Given the description of an element on the screen output the (x, y) to click on. 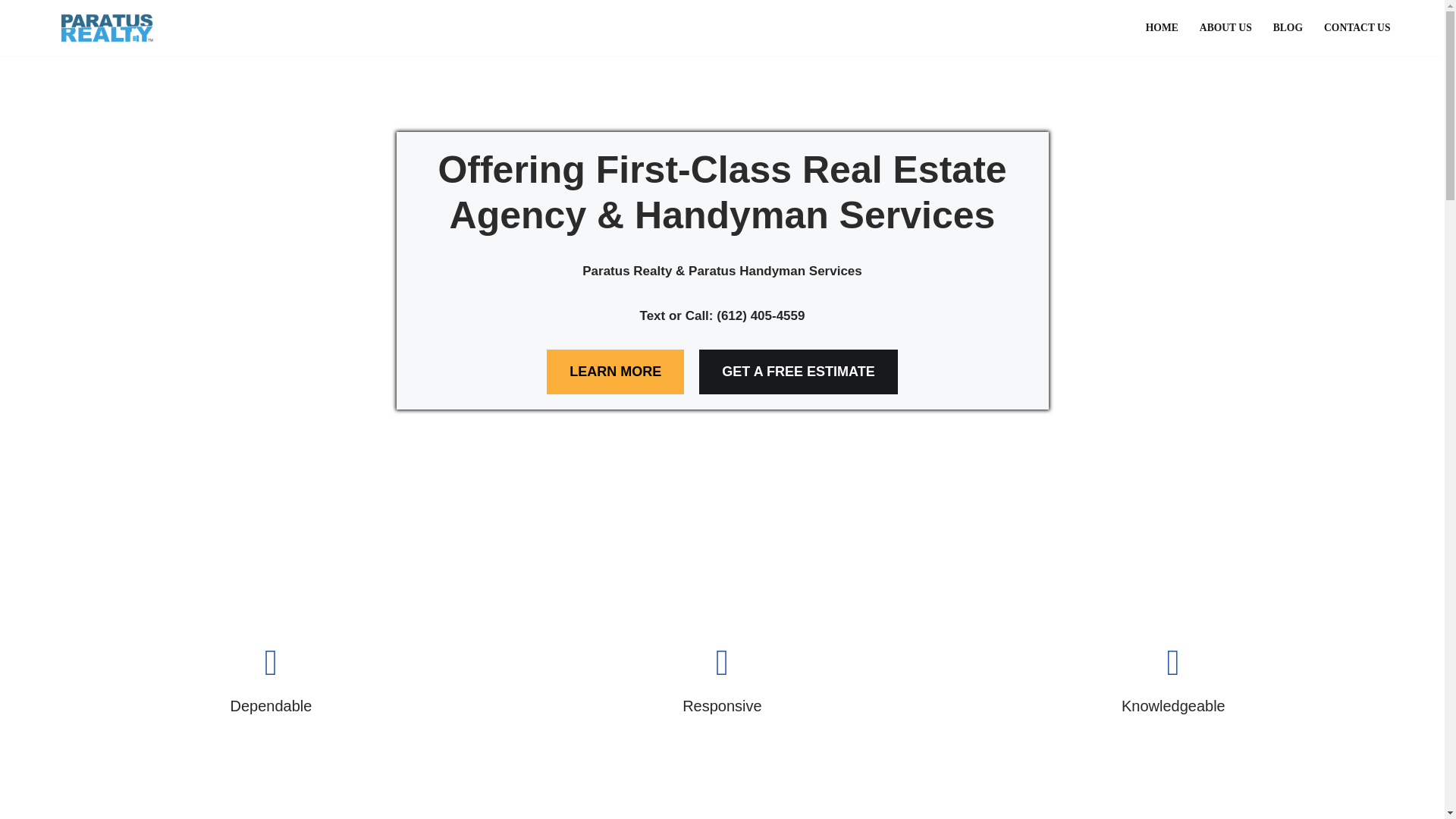
LEARN MORE (615, 371)
HOME (1161, 27)
GET A FREE ESTIMATE (797, 371)
Skip to content (11, 31)
CONTACT US (1356, 27)
BLOG (1287, 27)
ABOUT US (1225, 27)
